Given the description of an element on the screen output the (x, y) to click on. 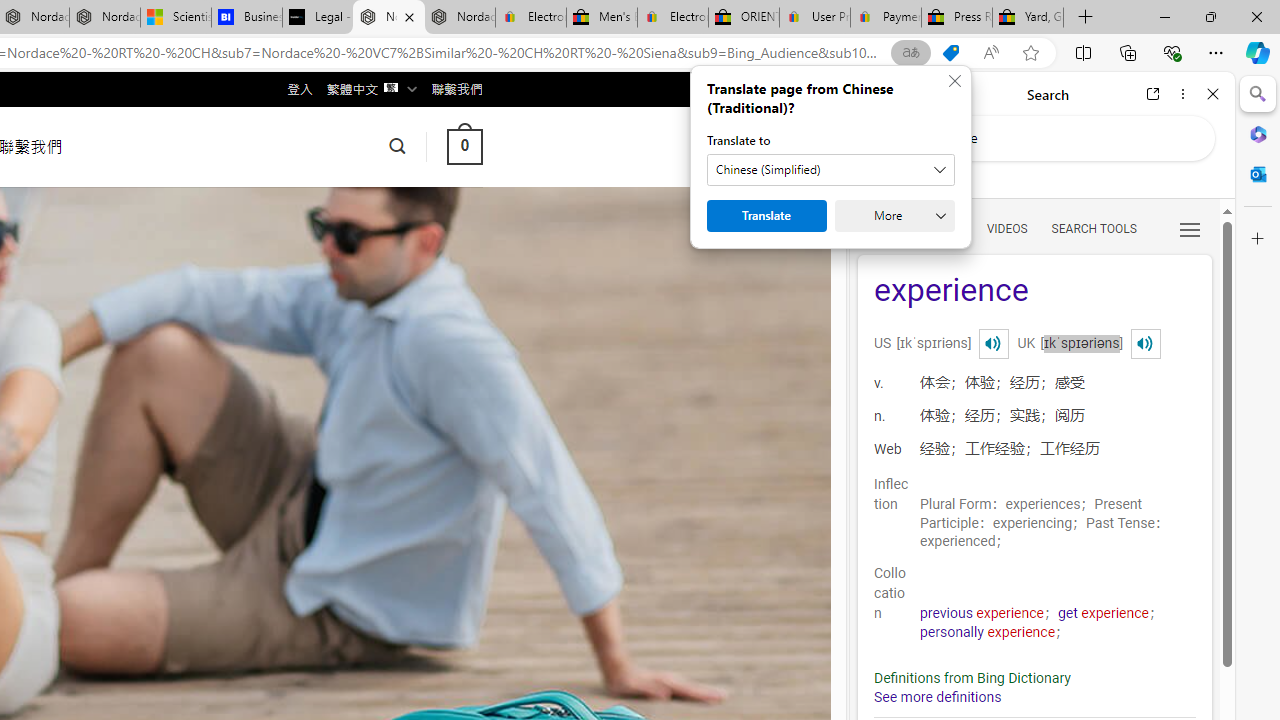
experience (1034, 291)
Translate (766, 215)
Open link in new tab (1153, 93)
Yard, Garden & Outdoor Living (1028, 17)
get experience (1103, 613)
IMAGES (939, 228)
SEARCH TOOLS (1093, 228)
Forward (906, 93)
Search Filter, IMAGES (939, 228)
Class: b_serphb (1190, 229)
